Given the description of an element on the screen output the (x, y) to click on. 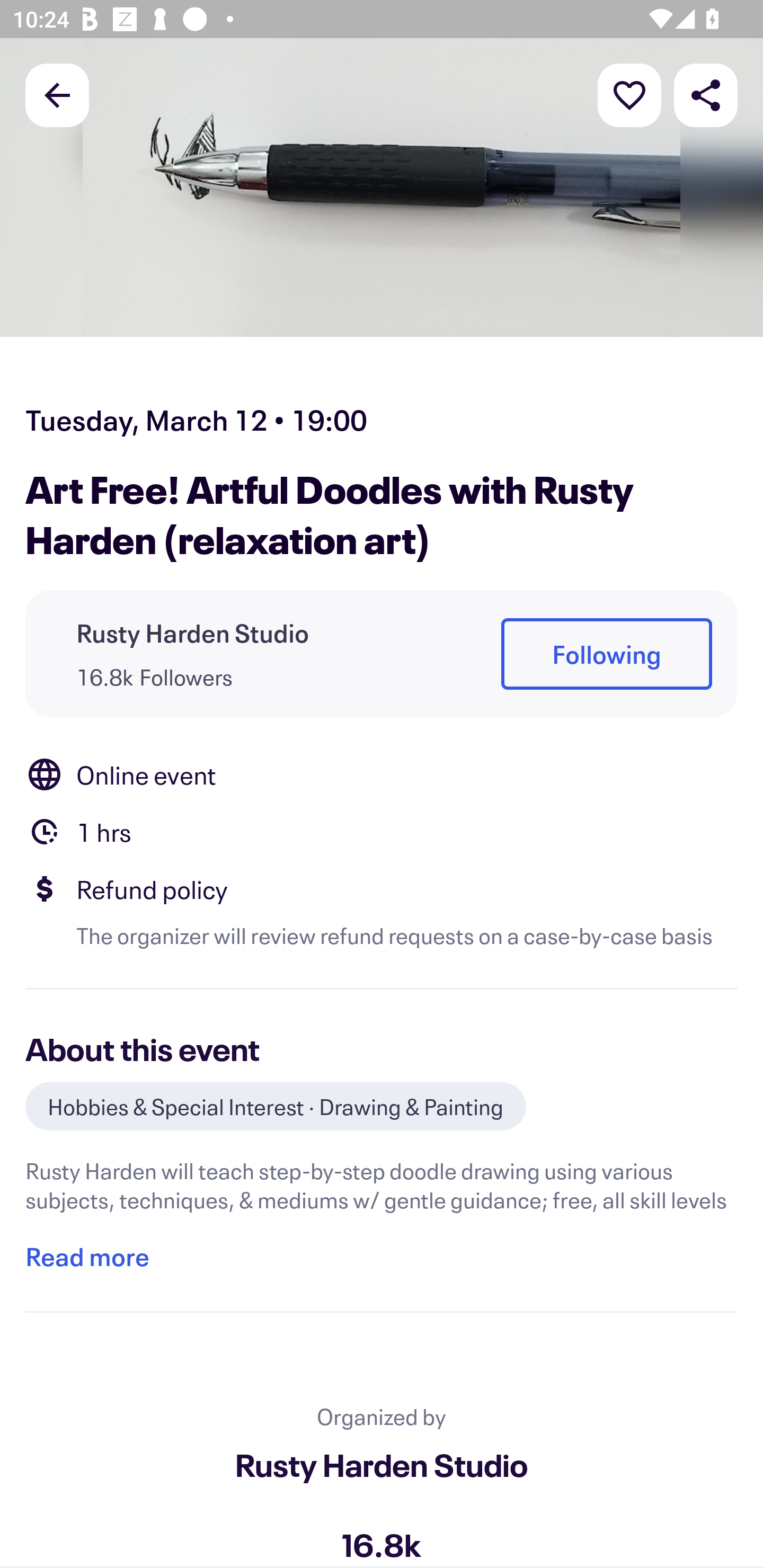
Back (57, 94)
More (629, 94)
Share (705, 94)
Rusty Harden Studio (192, 632)
Following (606, 654)
Location Online event (381, 774)
Read more (87, 1256)
Rusty Harden Studio (381, 1464)
